Given the description of an element on the screen output the (x, y) to click on. 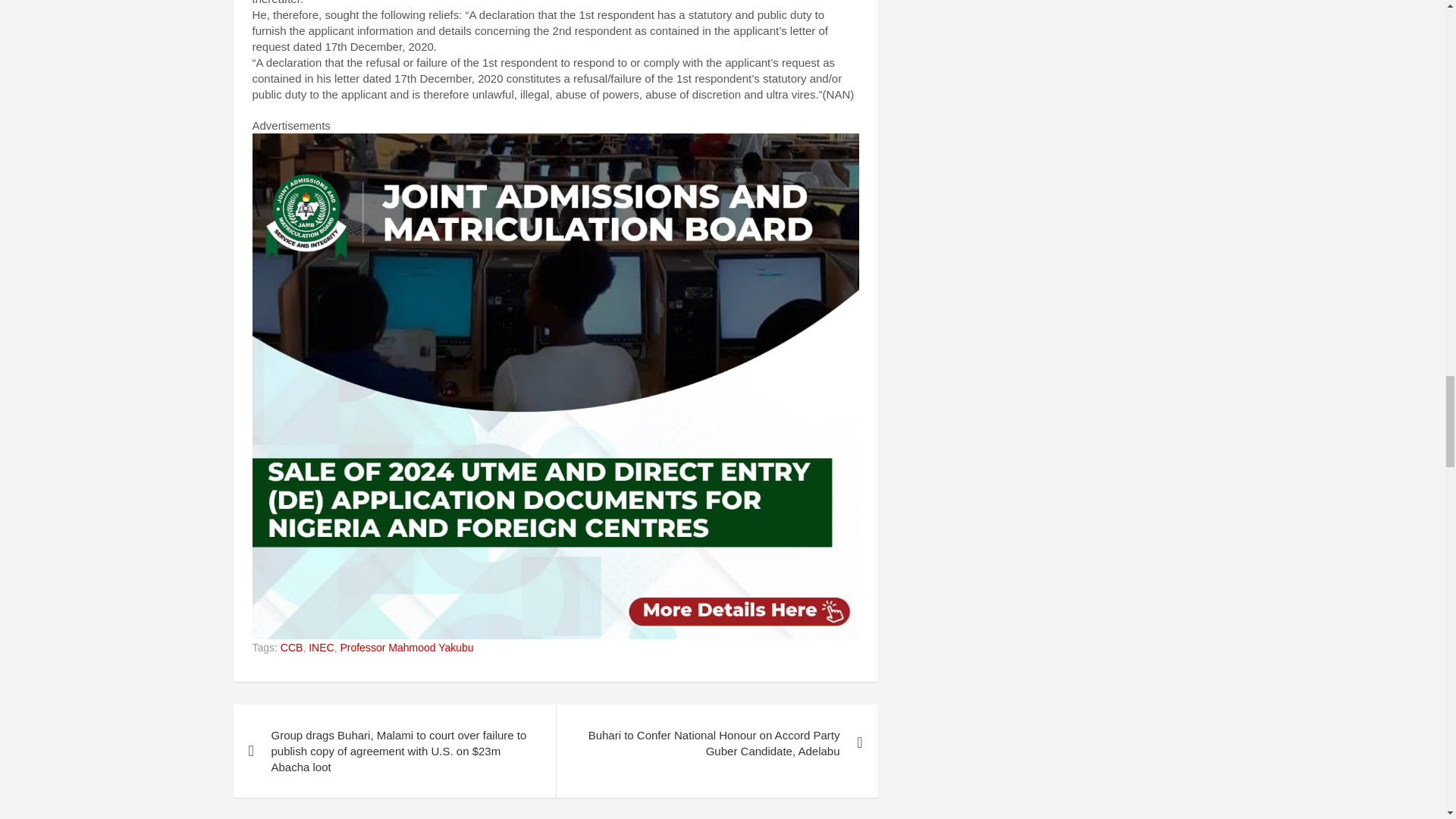
INEC (320, 648)
Professor Mahmood Yakubu (406, 648)
CCB (291, 648)
